Given the description of an element on the screen output the (x, y) to click on. 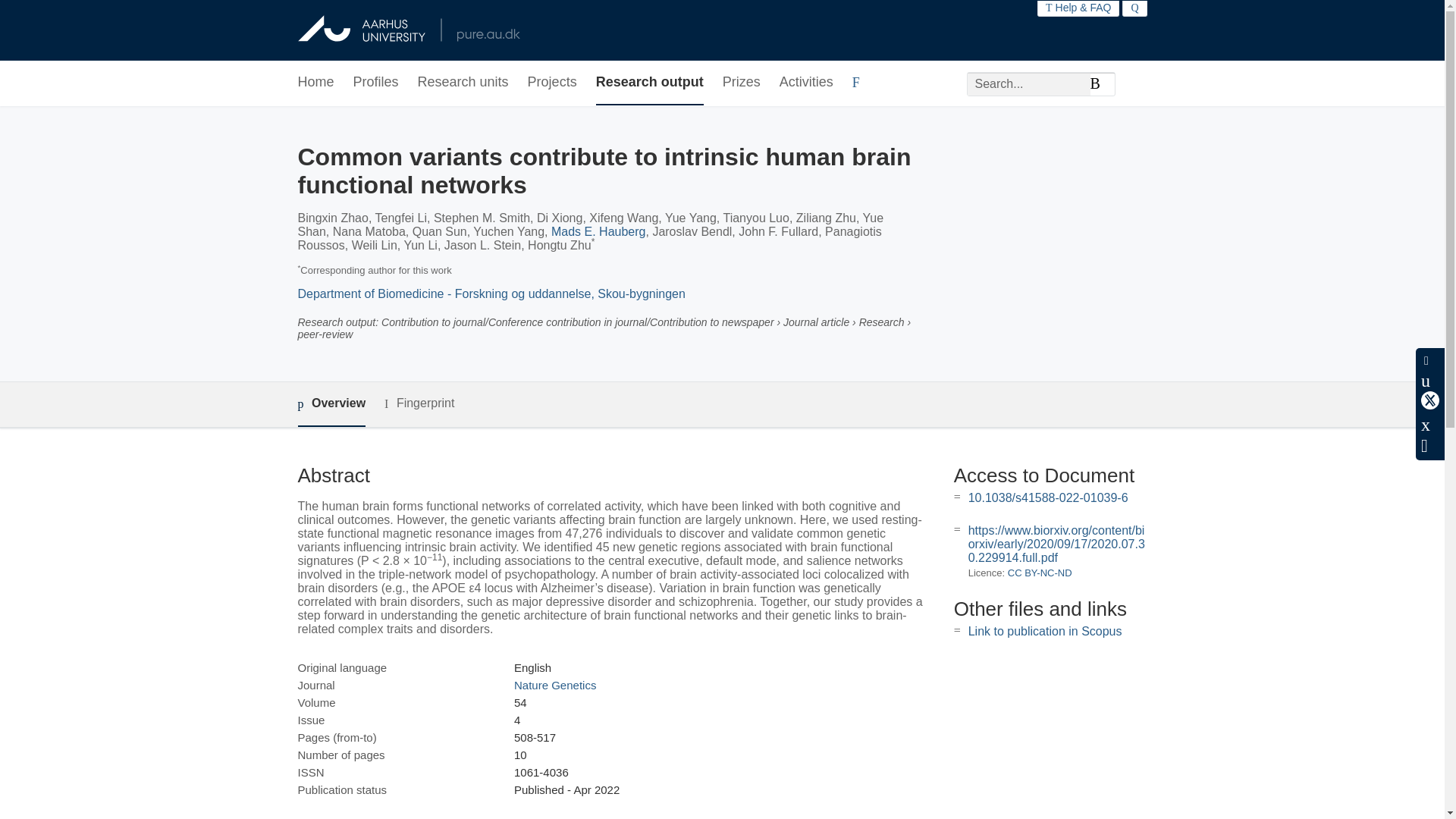
Link to publication in Scopus (1045, 631)
Activities (805, 82)
Mads E. Hauberg (598, 231)
Projects (551, 82)
Fingerprint (419, 403)
Research output (649, 82)
Overview (331, 404)
Research units (462, 82)
Aarhus University Home (408, 30)
Nature Genetics (554, 684)
Profiles (375, 82)
CC BY-NC-ND (1039, 572)
